Given the description of an element on the screen output the (x, y) to click on. 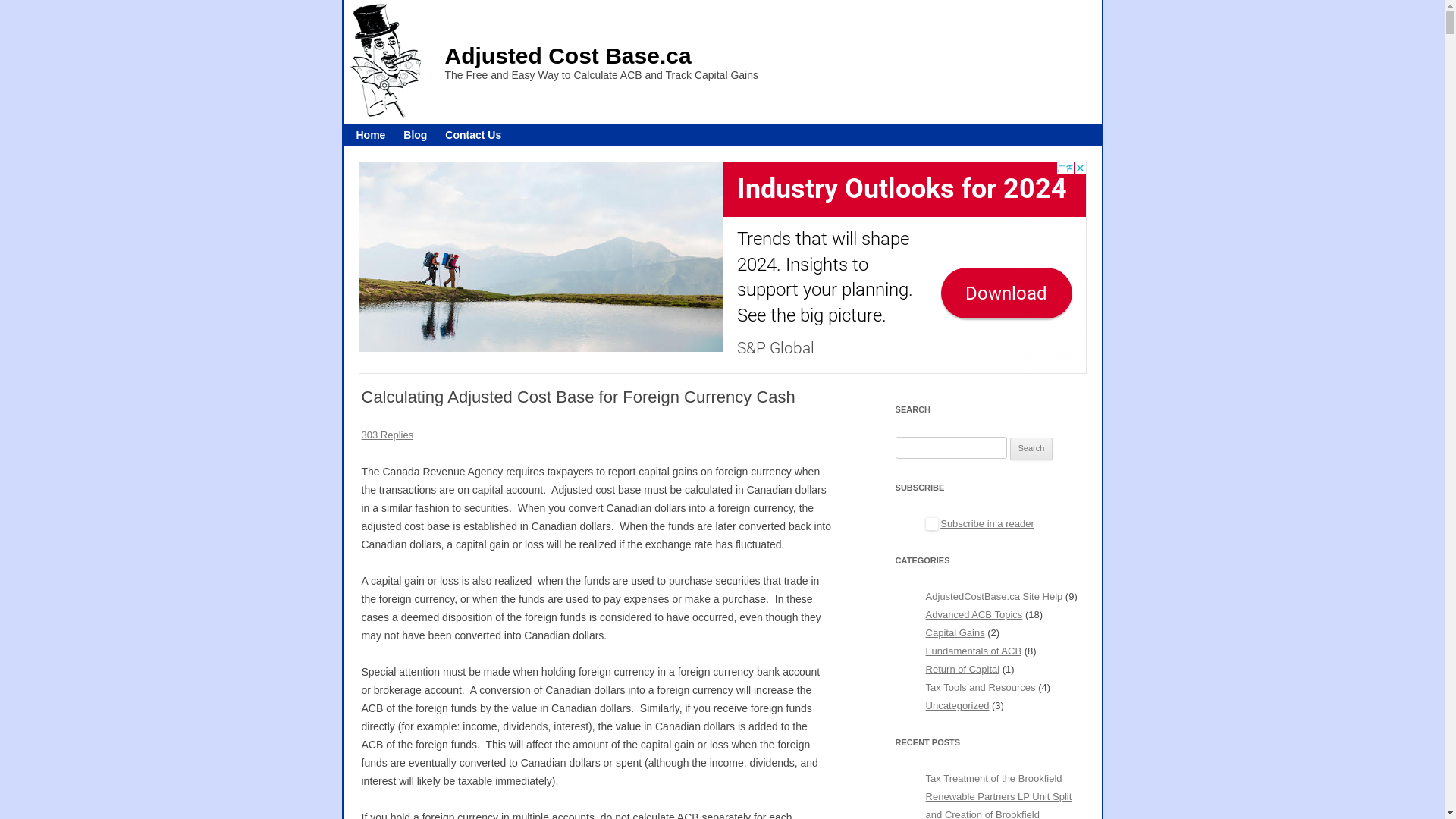
Contact Us Element type: text (473, 134)
Advanced ACB Topics Element type: text (973, 614)
Return of Capital Element type: text (962, 668)
Adjusted Cost Base.ca Element type: text (567, 54)
Uncategorized Element type: text (957, 705)
AdjustedCostBase.ca Site Help Element type: text (994, 596)
Blog Element type: text (414, 134)
Subscribe in a reader Element type: text (987, 523)
303 Replies Element type: text (386, 434)
Advertisement Element type: hover (721, 267)
Fundamentals of ACB Element type: text (973, 650)
Search Element type: text (1031, 448)
Home Element type: text (370, 134)
Capital Gains Element type: text (955, 632)
Tax Tools and Resources Element type: text (980, 687)
